Given the description of an element on the screen output the (x, y) to click on. 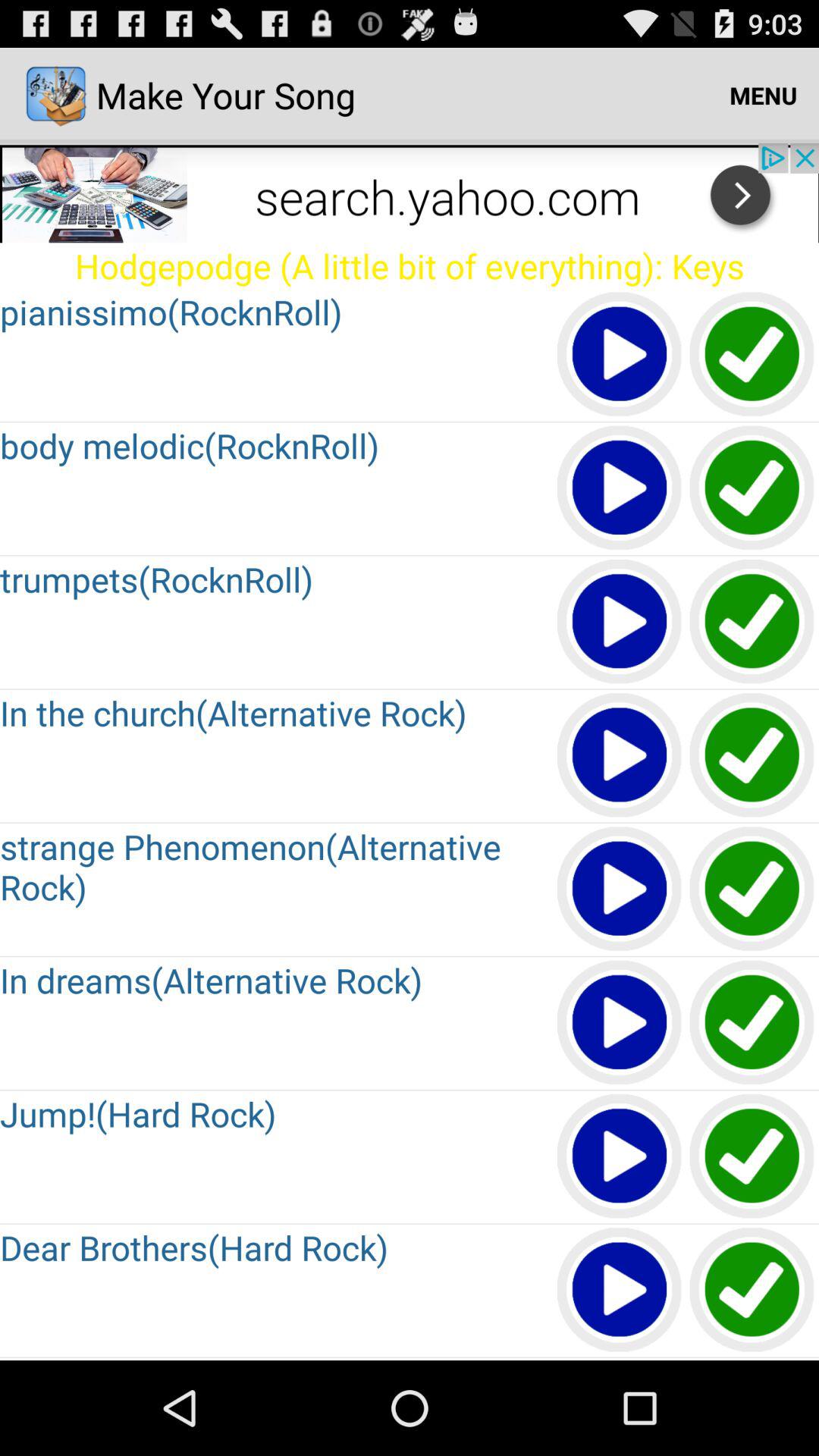
play songs (619, 1156)
